Given the description of an element on the screen output the (x, y) to click on. 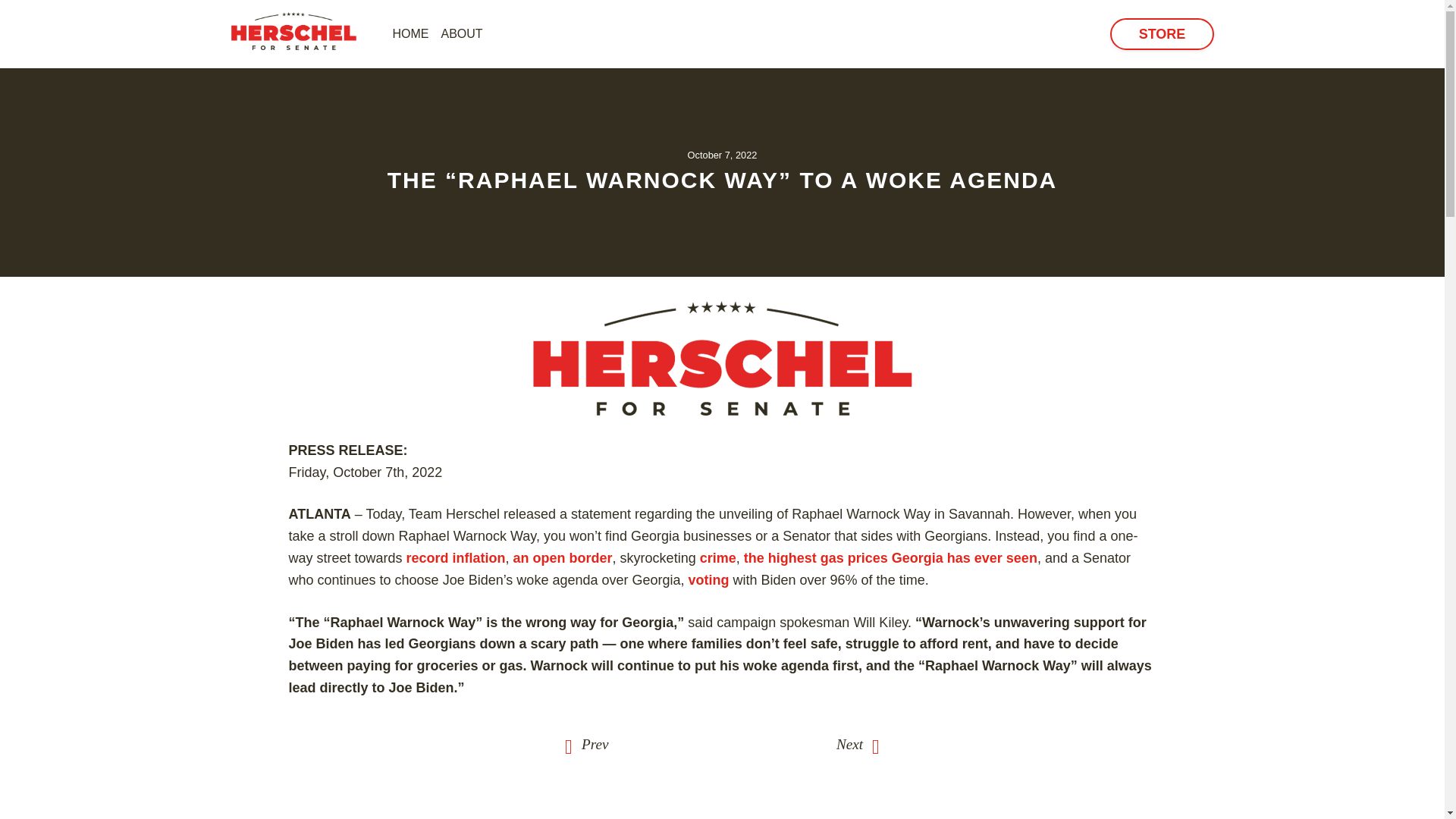
the highest gas prices Georgia has ever seen (890, 557)
crime (718, 557)
record inflation (455, 557)
Next (857, 745)
STORE (1160, 33)
voting (708, 580)
Herschel Walker (298, 30)
October 7, 2022 (722, 154)
HOME (411, 33)
an open border (562, 557)
ABOUT (462, 33)
Prev (586, 745)
